Given the description of an element on the screen output the (x, y) to click on. 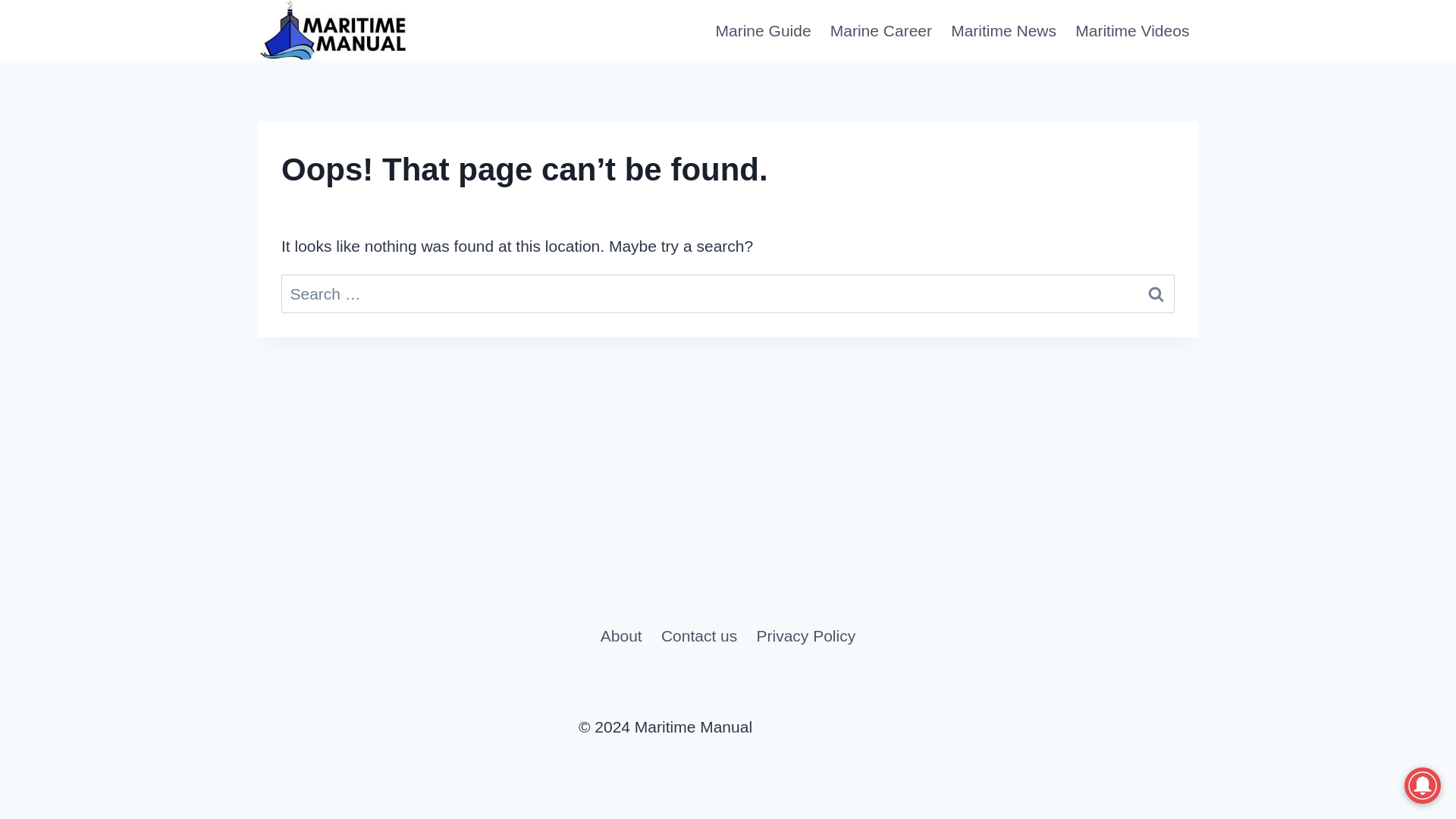
Maritime News (1003, 30)
Marine Career (880, 30)
Search (1155, 293)
Search (1155, 293)
Maritime Videos (1131, 30)
Search (1155, 293)
Marine Guide (763, 30)
Privacy Policy (805, 635)
Contact us (698, 635)
About (620, 635)
